Given the description of an element on the screen output the (x, y) to click on. 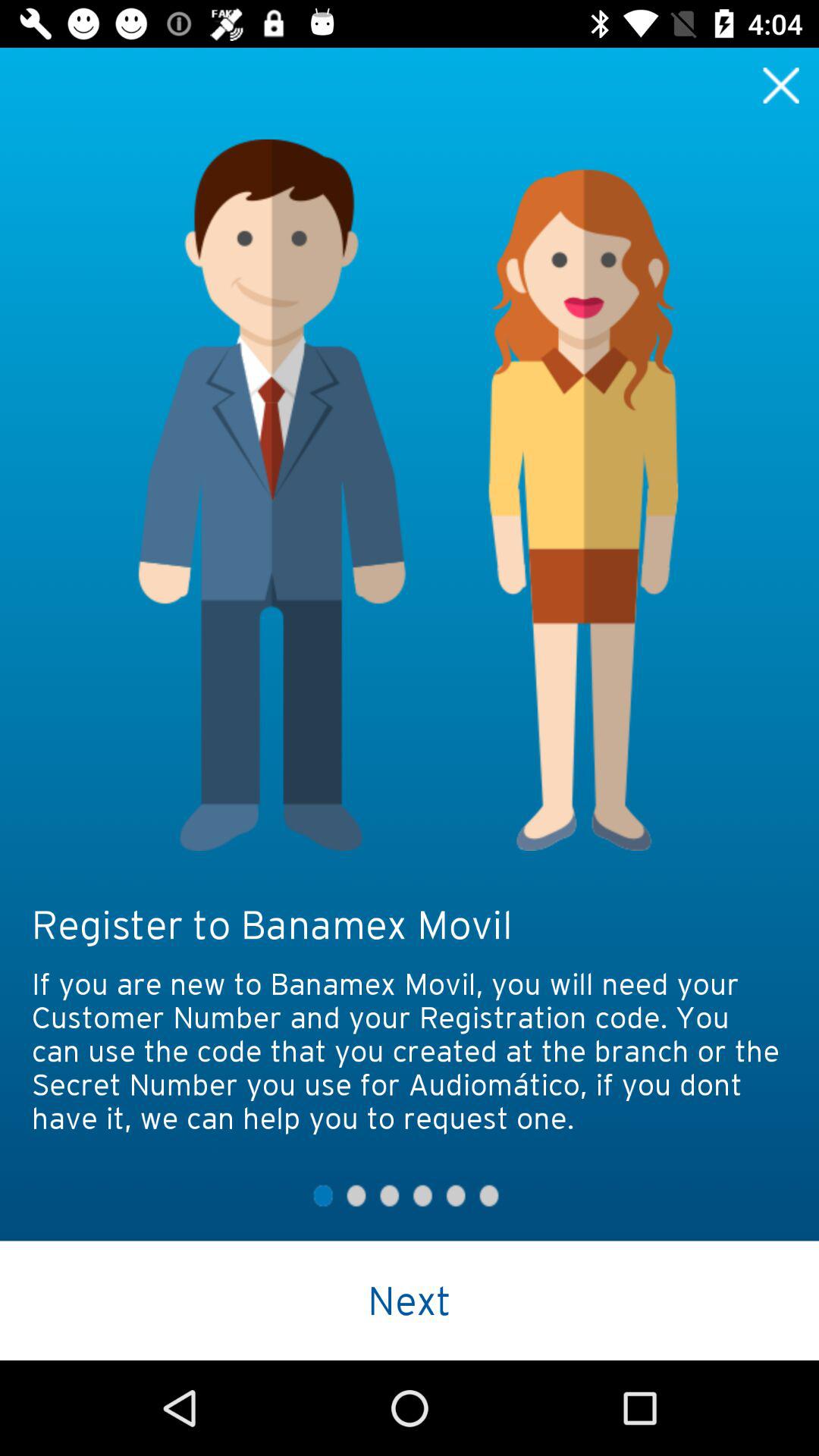
exit the window (781, 85)
